Given the description of an element on the screen output the (x, y) to click on. 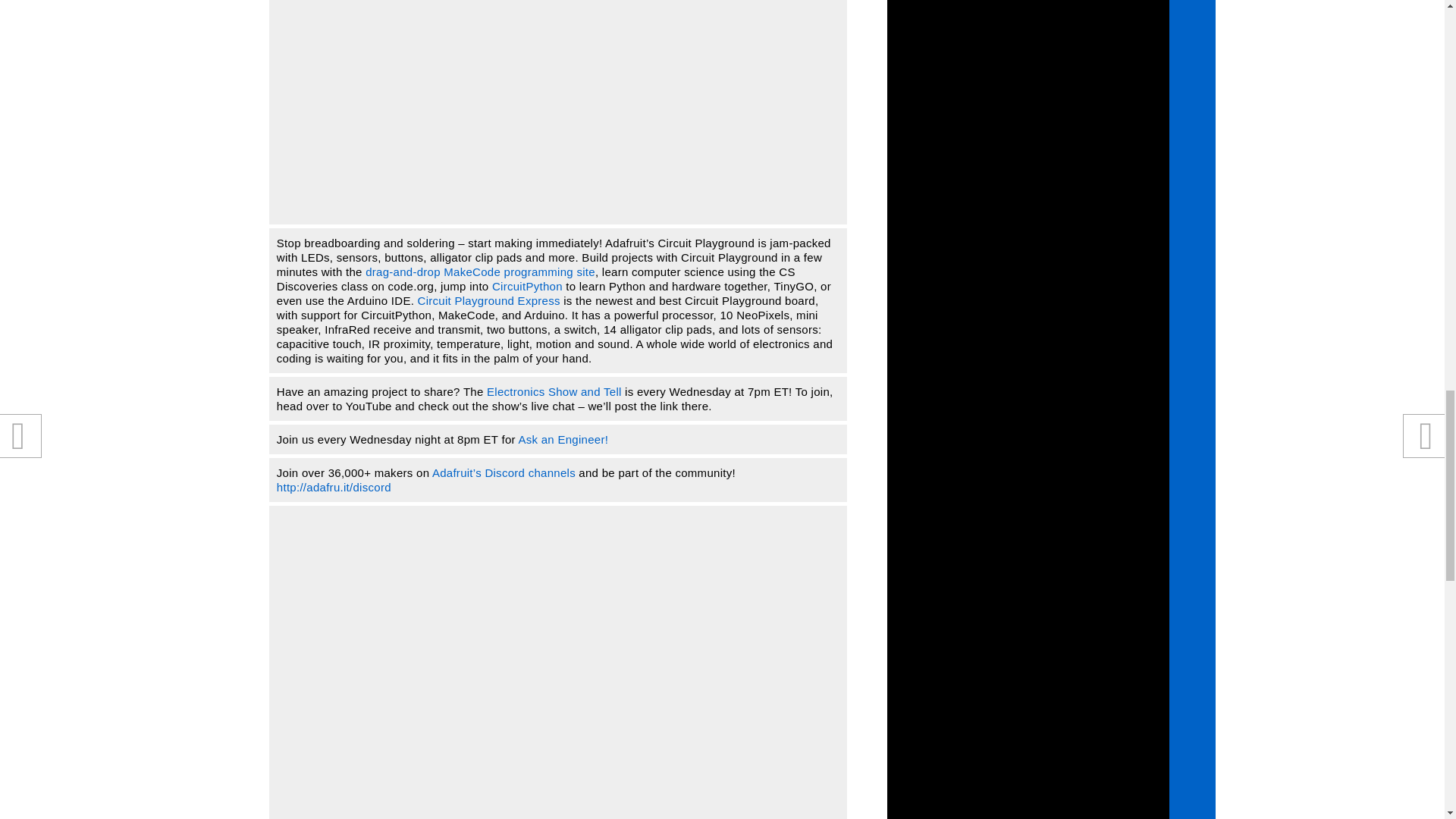
ASK AN ENGINEER (563, 439)
